Given the description of an element on the screen output the (x, y) to click on. 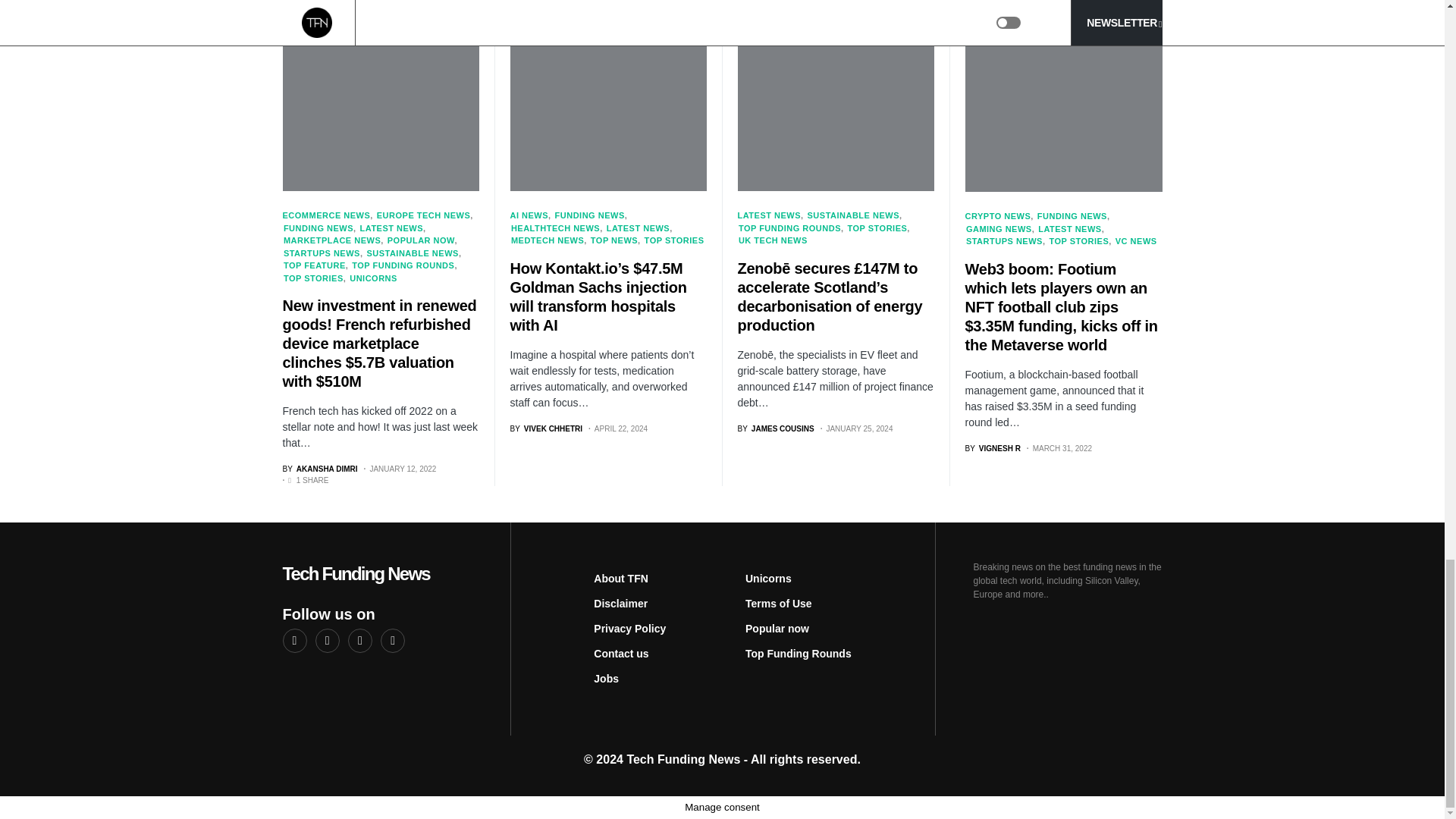
View all posts by James Cousins (774, 428)
View all posts by Vignesh R (991, 448)
View all posts by Akansha Dimri (319, 469)
View all posts by Vivek Chhetri (545, 428)
